Given the description of an element on the screen output the (x, y) to click on. 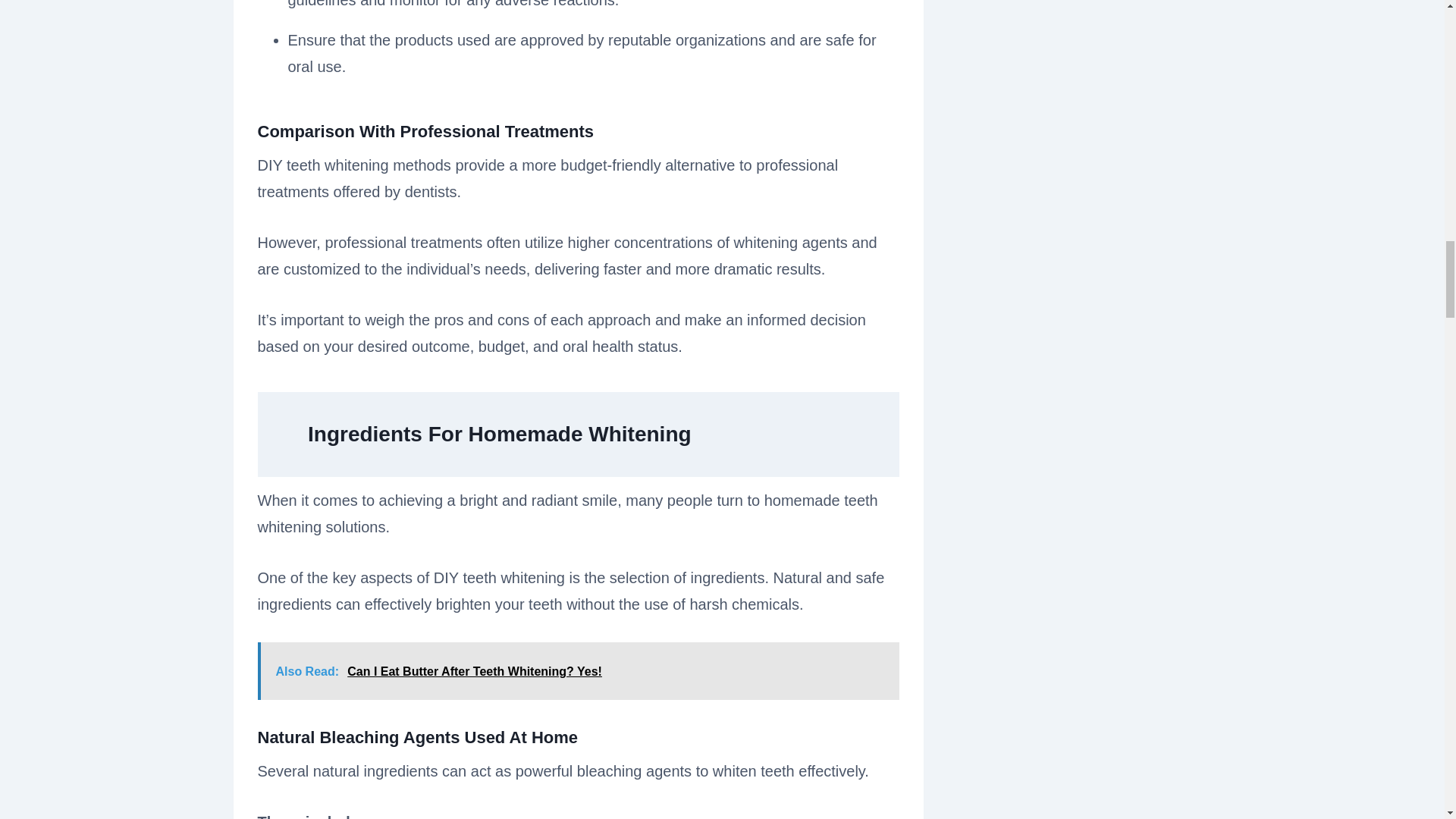
Also Read:  Can I Eat Butter After Teeth Whitening? Yes! (578, 671)
